Given the description of an element on the screen output the (x, y) to click on. 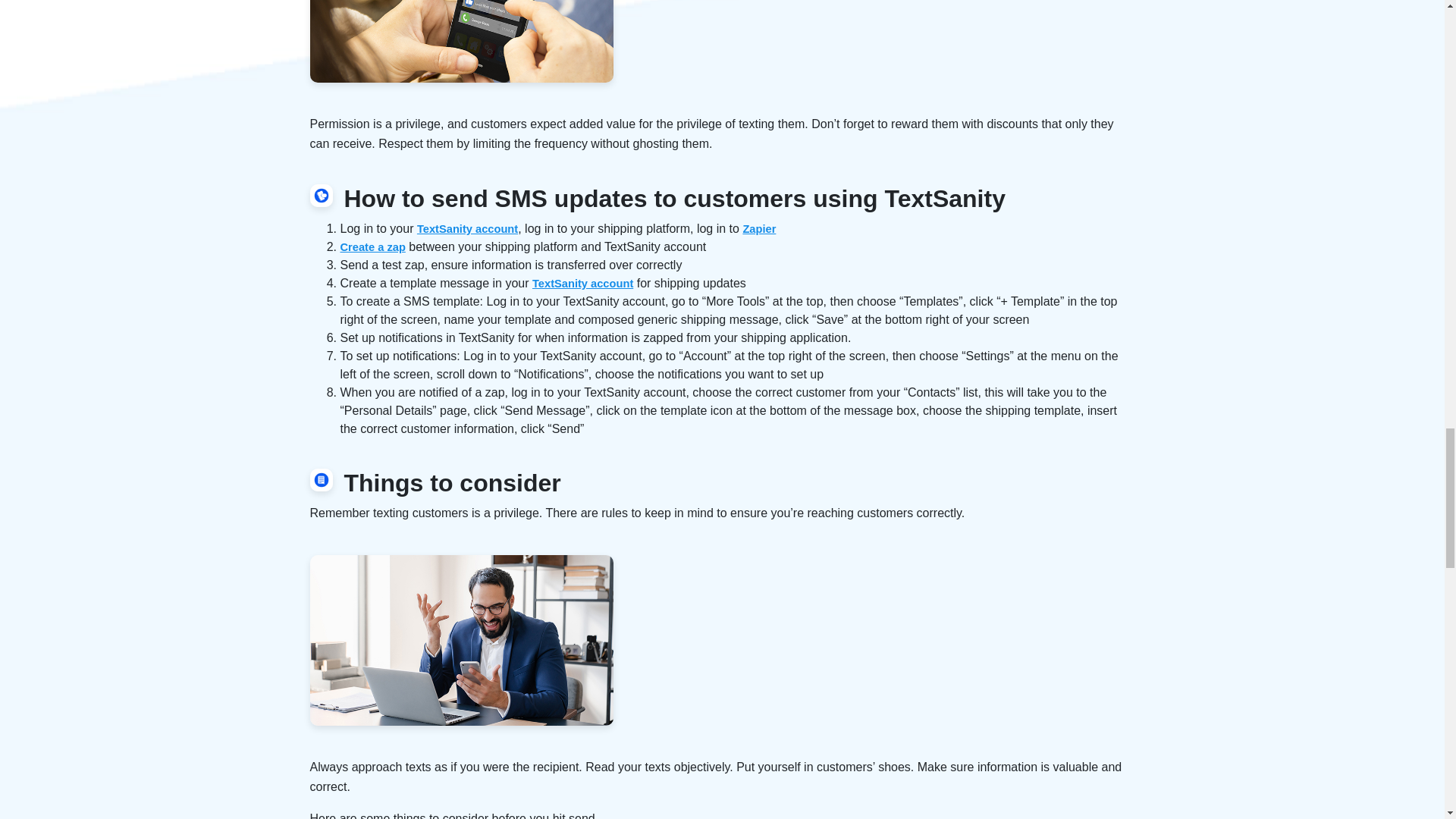
TextSanity account (582, 283)
Zapier (759, 228)
TextSanity account (467, 228)
Create a zap (371, 246)
